Given the description of an element on the screen output the (x, y) to click on. 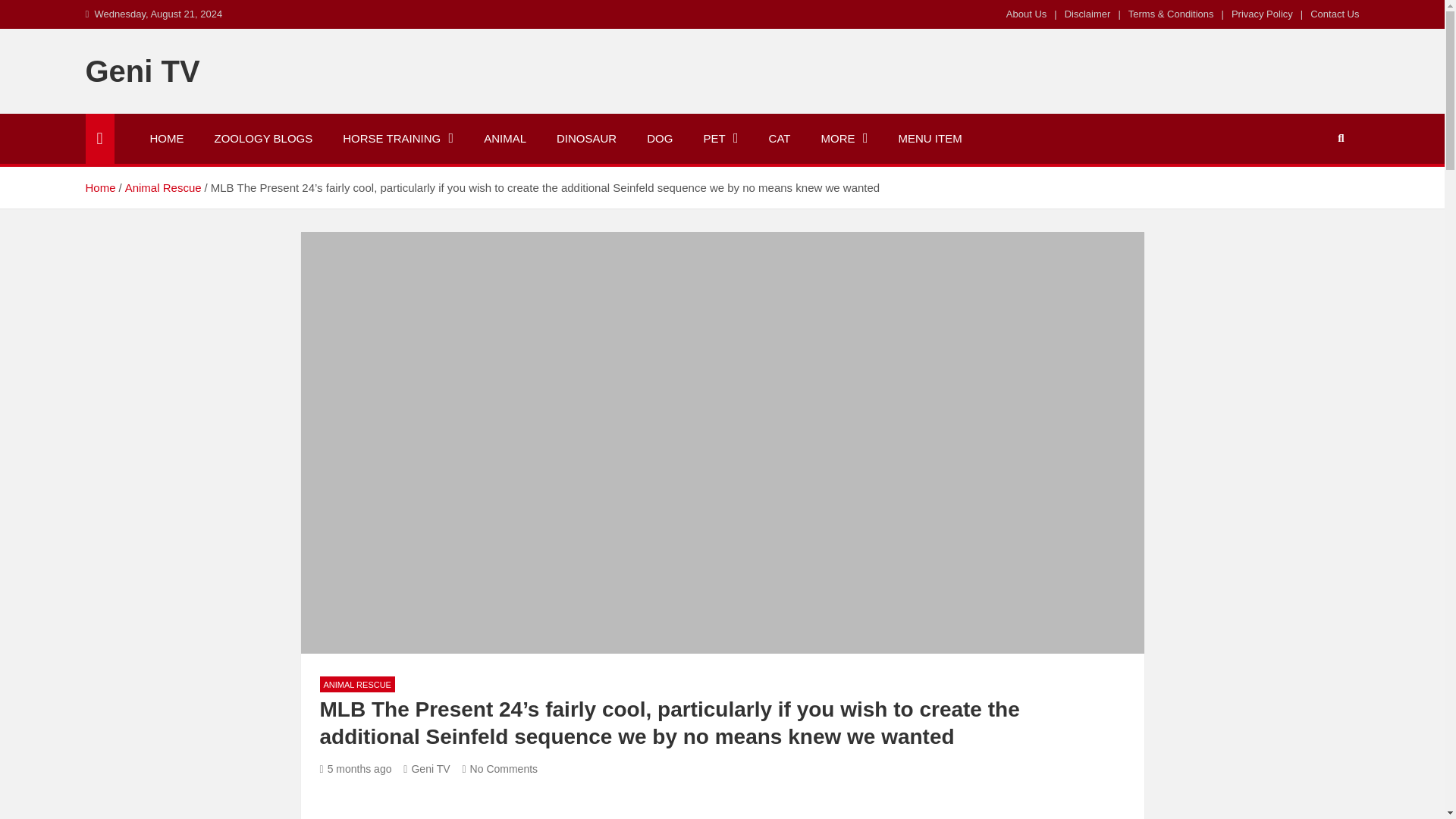
Geni TV (426, 768)
Privacy Policy (1261, 13)
DOG (659, 138)
PET (719, 138)
Disclaimer (1087, 13)
CAT (780, 138)
No Comments (499, 768)
MORE (843, 138)
5 months ago (355, 768)
ANIMAL RESCUE (357, 684)
